Given the description of an element on the screen output the (x, y) to click on. 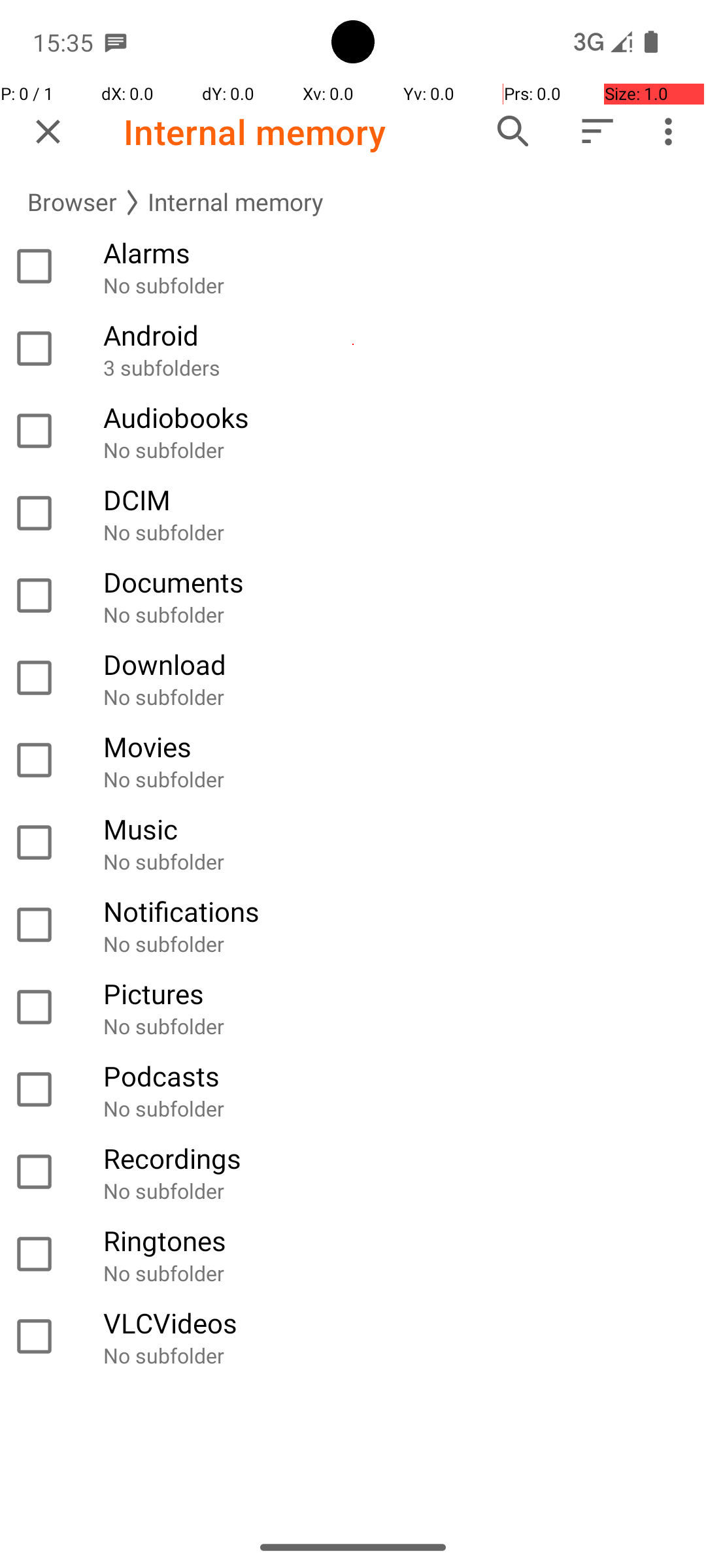
Browser Element type: android.widget.TextView (72, 202)
Folder: Alarms Element type: android.view.ViewGroup (353, 266)
Folder: Android Element type: android.view.ViewGroup (353, 348)
Folder: Audiobooks Element type: android.view.ViewGroup (353, 431)
Folder: DCIM Element type: android.view.ViewGroup (353, 513)
Folder: Documents Element type: android.view.ViewGroup (353, 595)
Folder: Download Element type: android.view.ViewGroup (353, 678)
Folder: Movies Element type: android.view.ViewGroup (353, 760)
Folder: Music Element type: android.view.ViewGroup (353, 842)
Folder: Notifications Element type: android.view.ViewGroup (353, 924)
Folder: Pictures Element type: android.view.ViewGroup (353, 1007)
Folder: Podcasts Element type: android.view.ViewGroup (353, 1089)
Folder: Recordings Element type: android.view.ViewGroup (353, 1171)
Folder: Ringtones Element type: android.view.ViewGroup (353, 1254)
Folder: VLCVideos Element type: android.view.ViewGroup (353, 1336)
Alarms Element type: android.widget.TextView (397, 252)
No subfolder Element type: android.widget.TextView (397, 285)
Android Element type: android.widget.TextView (397, 334)
3 subfolders Element type: android.widget.TextView (397, 367)
Audiobooks Element type: android.widget.TextView (397, 416)
DCIM Element type: android.widget.TextView (397, 499)
Movies Element type: android.widget.TextView (397, 746)
Pictures Element type: android.widget.TextView (397, 993)
Podcasts Element type: android.widget.TextView (397, 1075)
Recordings Element type: android.widget.TextView (397, 1157)
Ringtones Element type: android.widget.TextView (397, 1239)
VLCVideos Element type: android.widget.TextView (397, 1322)
